Given the description of an element on the screen output the (x, y) to click on. 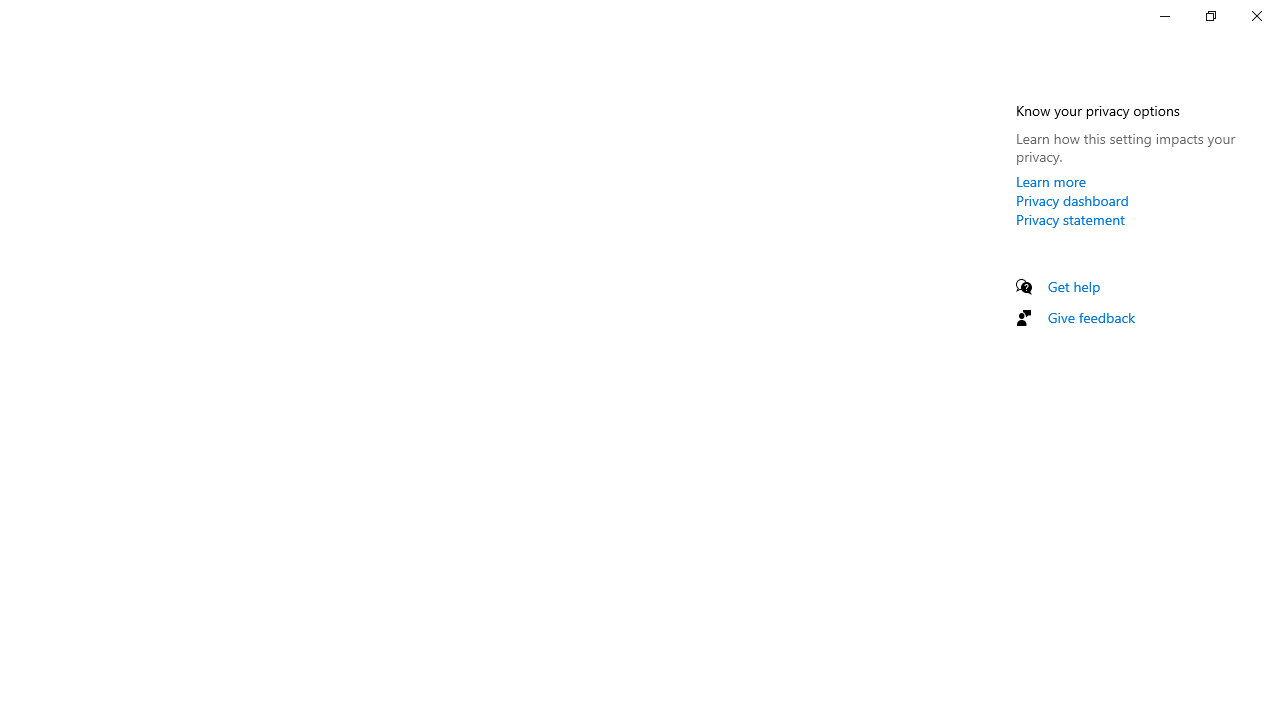
Restore Settings (1210, 15)
Minimize Settings (1164, 15)
Get help (1074, 286)
Close Settings (1256, 15)
Give feedback (1091, 317)
Privacy dashboard (1072, 200)
Privacy statement (1070, 219)
Learn more (1051, 181)
